Given the description of an element on the screen output the (x, y) to click on. 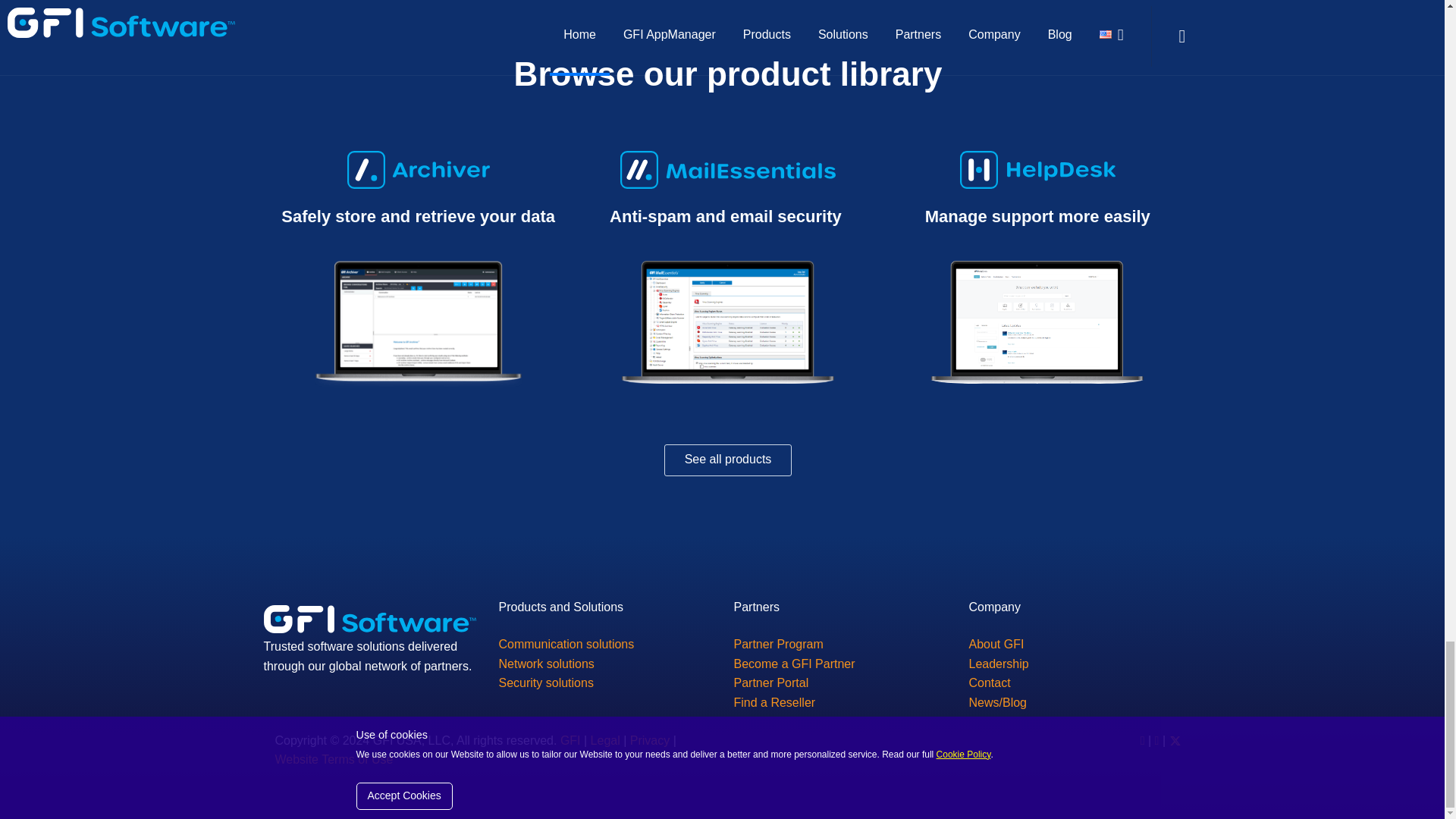
X (1174, 739)
